Given the description of an element on the screen output the (x, y) to click on. 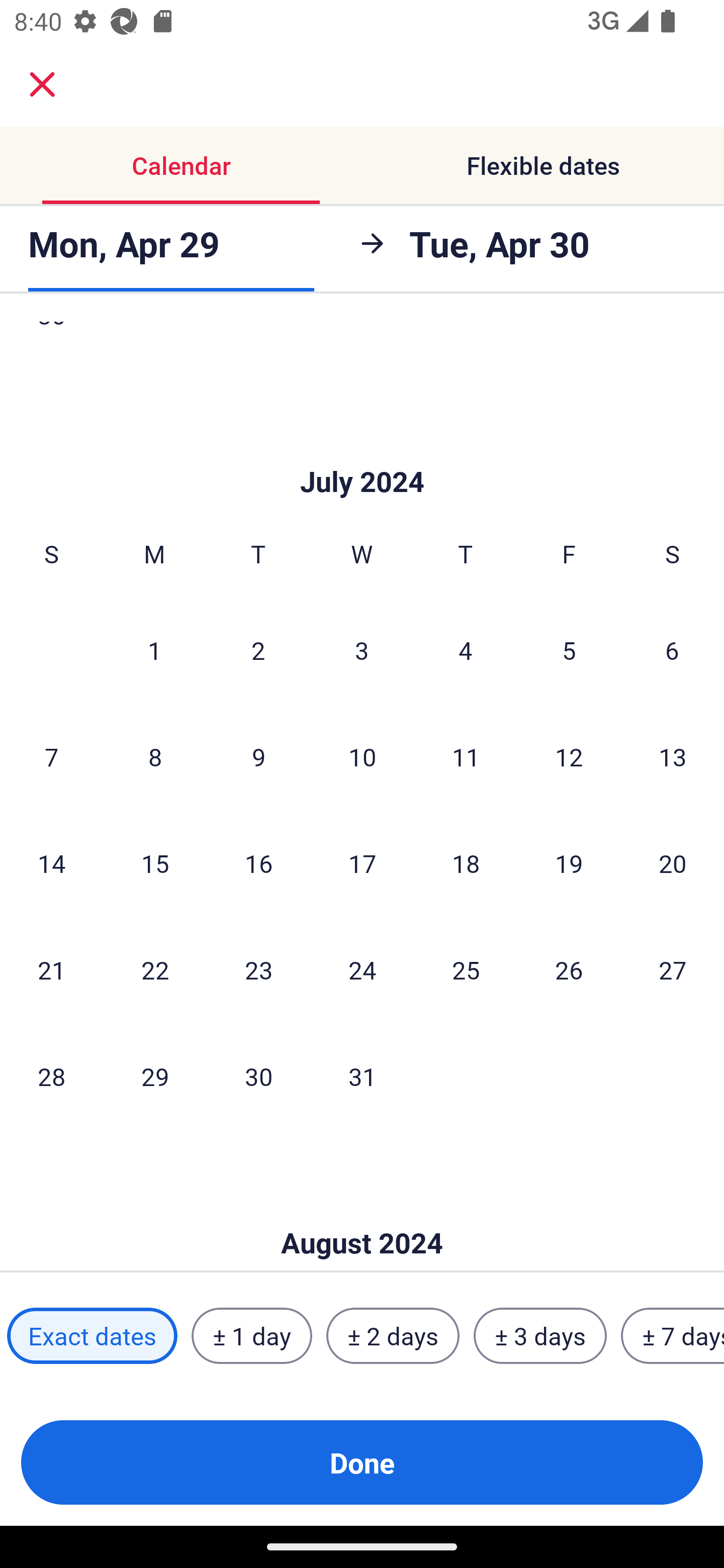
close. (42, 84)
Flexible dates (542, 164)
Skip to Done (362, 451)
1 Monday, July 1, 2024 (154, 649)
2 Tuesday, July 2, 2024 (257, 649)
3 Wednesday, July 3, 2024 (361, 649)
4 Thursday, July 4, 2024 (465, 649)
5 Friday, July 5, 2024 (568, 649)
6 Saturday, July 6, 2024 (672, 649)
7 Sunday, July 7, 2024 (51, 756)
8 Monday, July 8, 2024 (155, 756)
9 Tuesday, July 9, 2024 (258, 756)
10 Wednesday, July 10, 2024 (362, 756)
11 Thursday, July 11, 2024 (465, 756)
12 Friday, July 12, 2024 (569, 756)
13 Saturday, July 13, 2024 (672, 756)
14 Sunday, July 14, 2024 (51, 863)
15 Monday, July 15, 2024 (155, 863)
16 Tuesday, July 16, 2024 (258, 863)
17 Wednesday, July 17, 2024 (362, 863)
18 Thursday, July 18, 2024 (465, 863)
19 Friday, July 19, 2024 (569, 863)
20 Saturday, July 20, 2024 (672, 863)
21 Sunday, July 21, 2024 (51, 969)
22 Monday, July 22, 2024 (155, 969)
23 Tuesday, July 23, 2024 (258, 969)
24 Wednesday, July 24, 2024 (362, 969)
25 Thursday, July 25, 2024 (465, 969)
26 Friday, July 26, 2024 (569, 969)
27 Saturday, July 27, 2024 (672, 969)
28 Sunday, July 28, 2024 (51, 1076)
29 Monday, July 29, 2024 (155, 1076)
30 Tuesday, July 30, 2024 (258, 1076)
31 Wednesday, July 31, 2024 (362, 1076)
Skip to Done (362, 1213)
Exact dates (92, 1335)
± 1 day (251, 1335)
± 2 days (392, 1335)
± 3 days (539, 1335)
± 7 days (672, 1335)
Done (361, 1462)
